Given the description of an element on the screen output the (x, y) to click on. 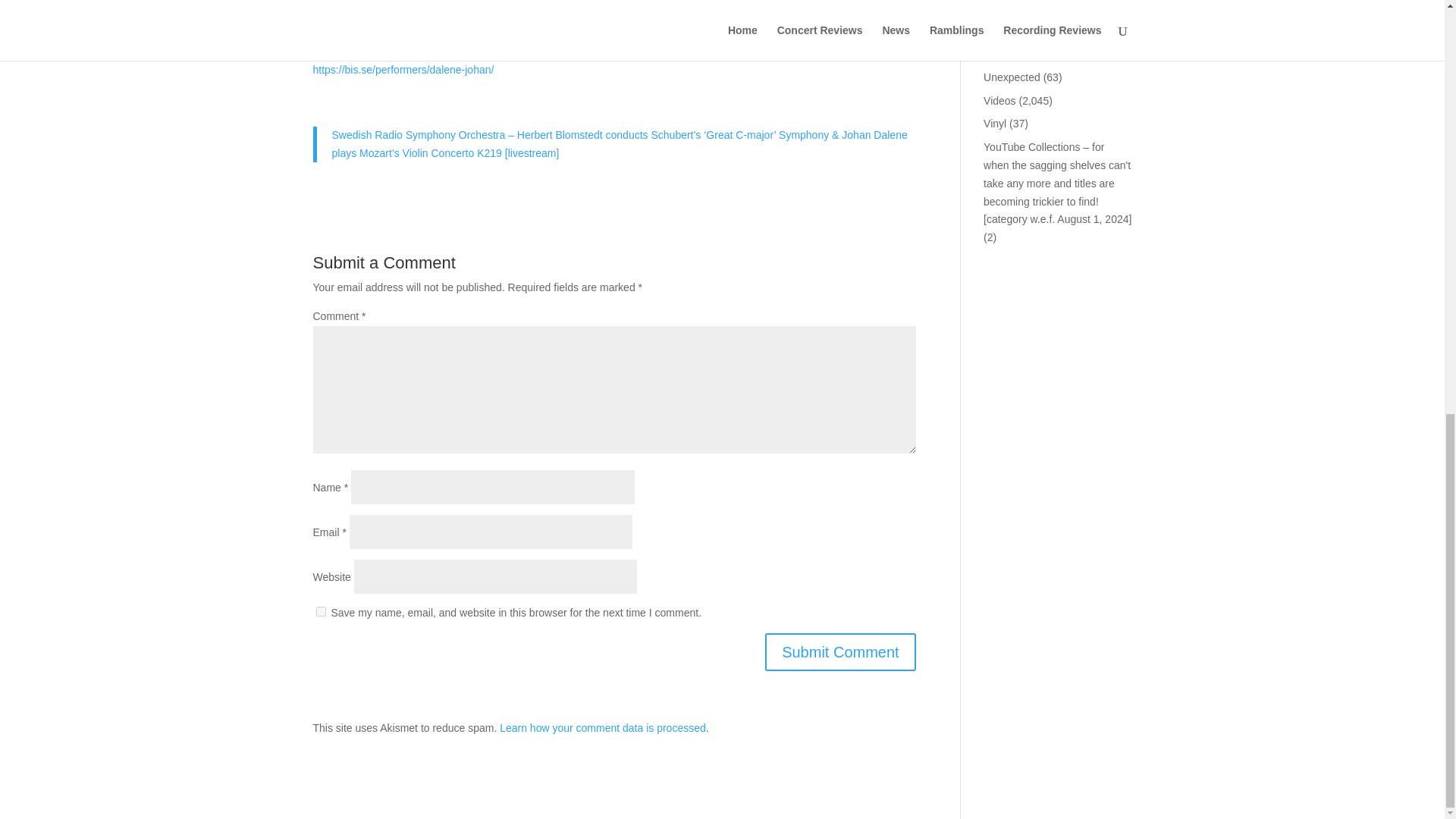
yes (319, 611)
Learn how your comment data is processed (602, 727)
Submit Comment (840, 651)
Submit Comment (840, 651)
